Given the description of an element on the screen output the (x, y) to click on. 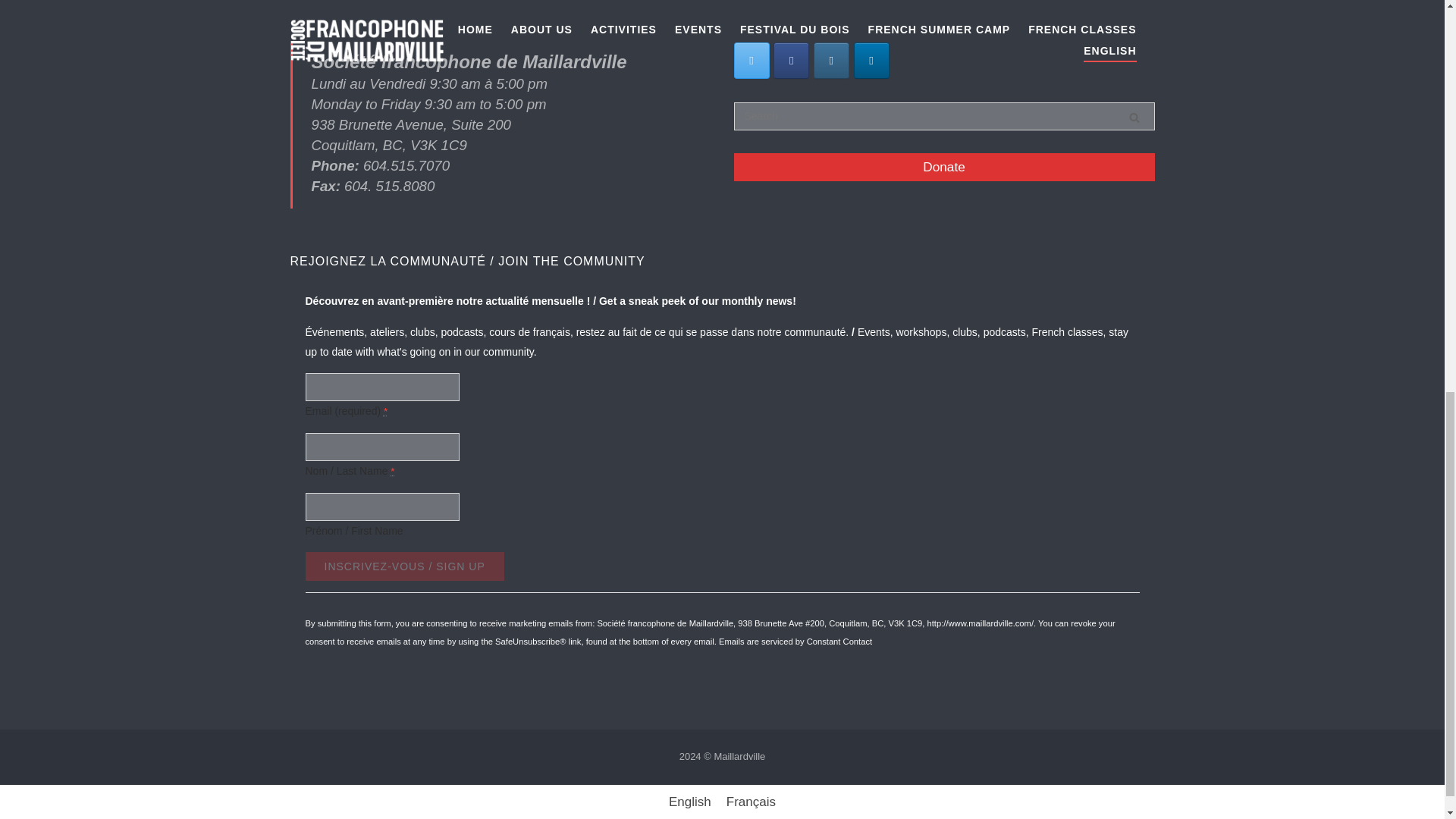
Maillardville on Facebook (791, 60)
Emails are serviced by Constant Contact (795, 641)
Maillardville on Twitter (751, 60)
Maillardville on Linkedin (871, 60)
Maillardville on Instagram (830, 60)
Donate (943, 166)
